Given the description of an element on the screen output the (x, y) to click on. 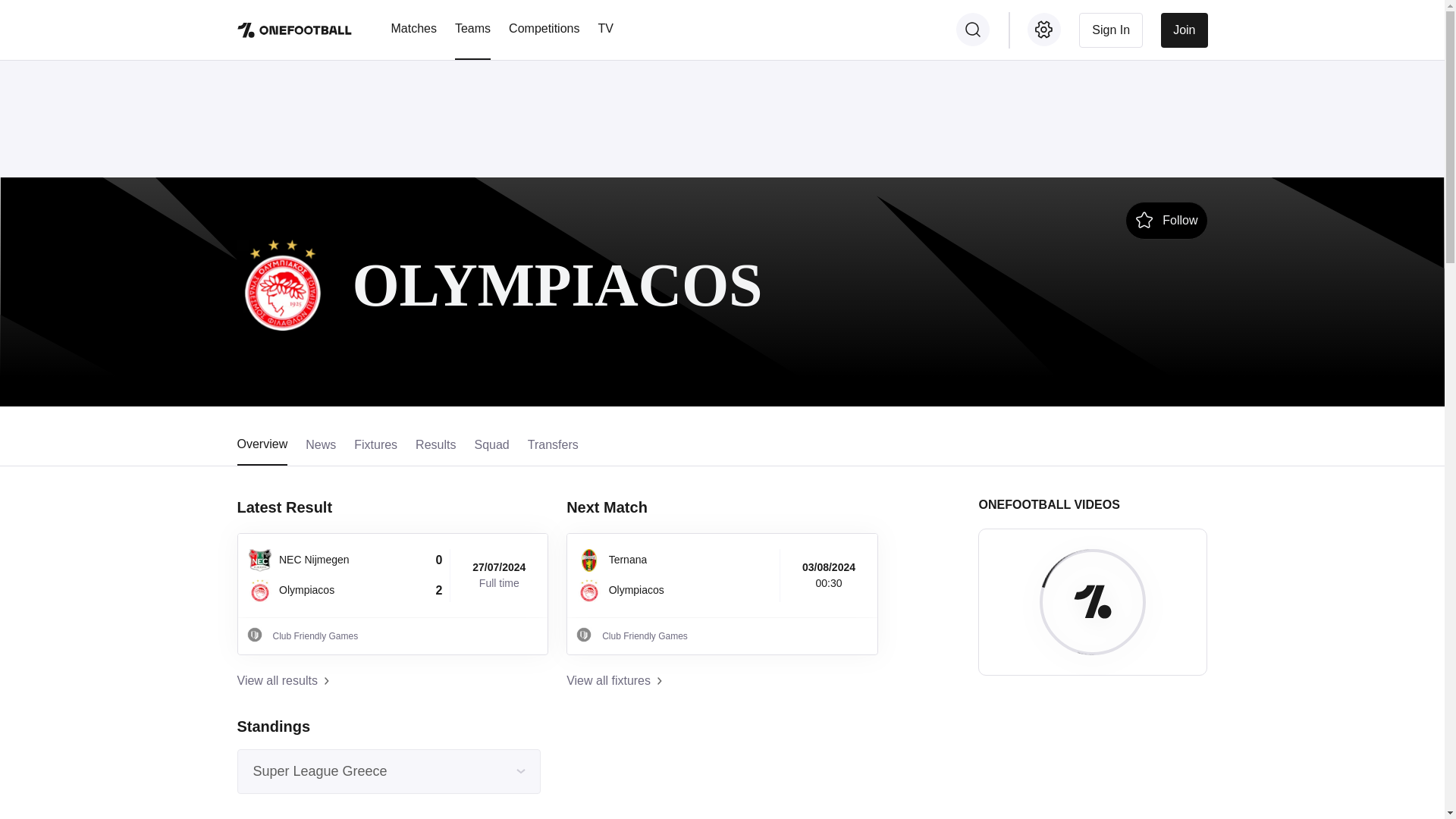
Fixtures (375, 451)
Join (1183, 29)
Search (973, 28)
Results (434, 451)
Squad (491, 451)
Overview (260, 451)
Settings (1044, 28)
OneFootball's home page (293, 29)
Matches (413, 28)
Transfers (552, 451)
News (320, 451)
